Given the description of an element on the screen output the (x, y) to click on. 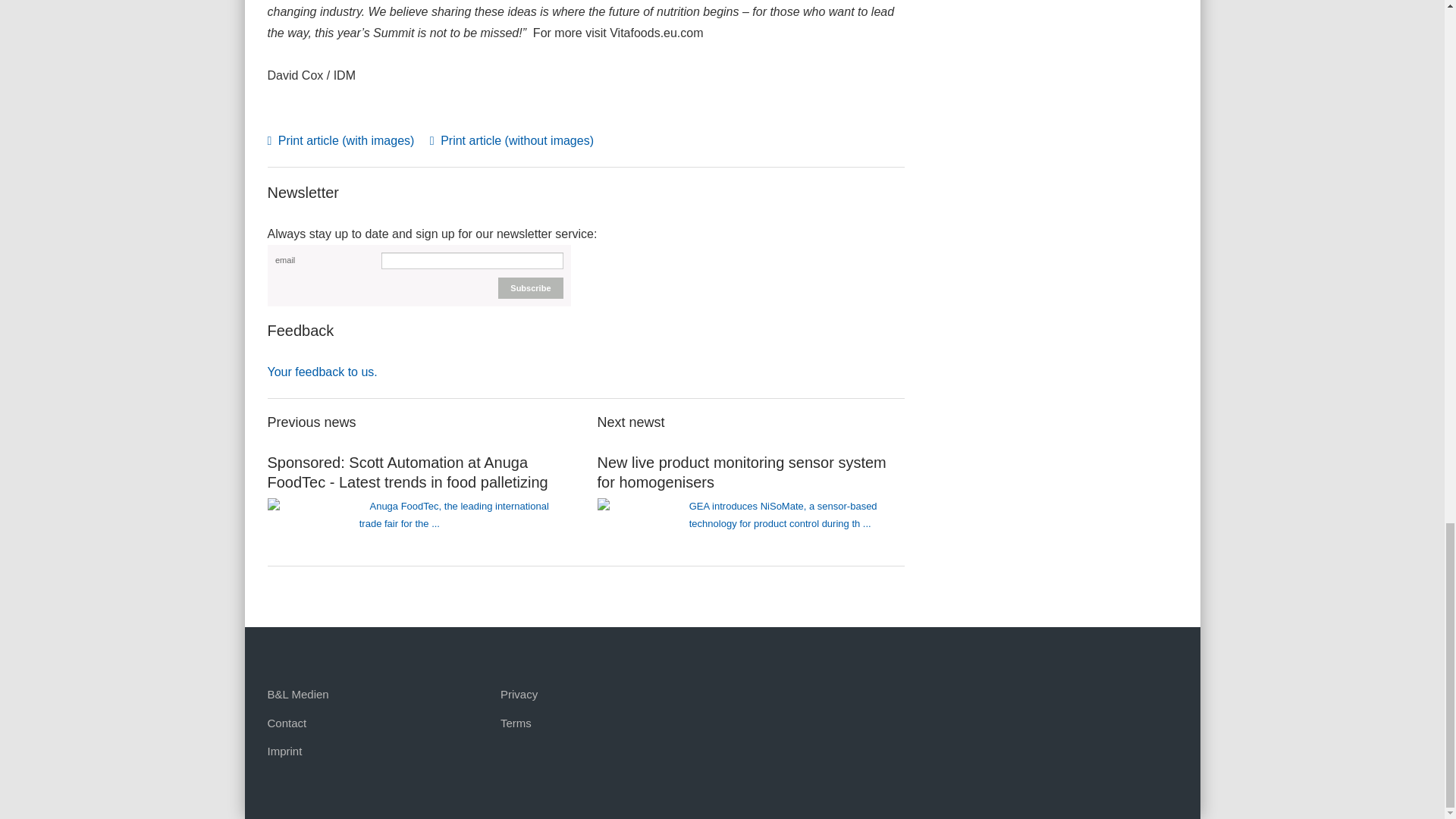
Contact (285, 722)
Imprint (283, 750)
Your feedback to us. (321, 371)
Privacy (518, 694)
Terms (515, 722)
